Given the description of an element on the screen output the (x, y) to click on. 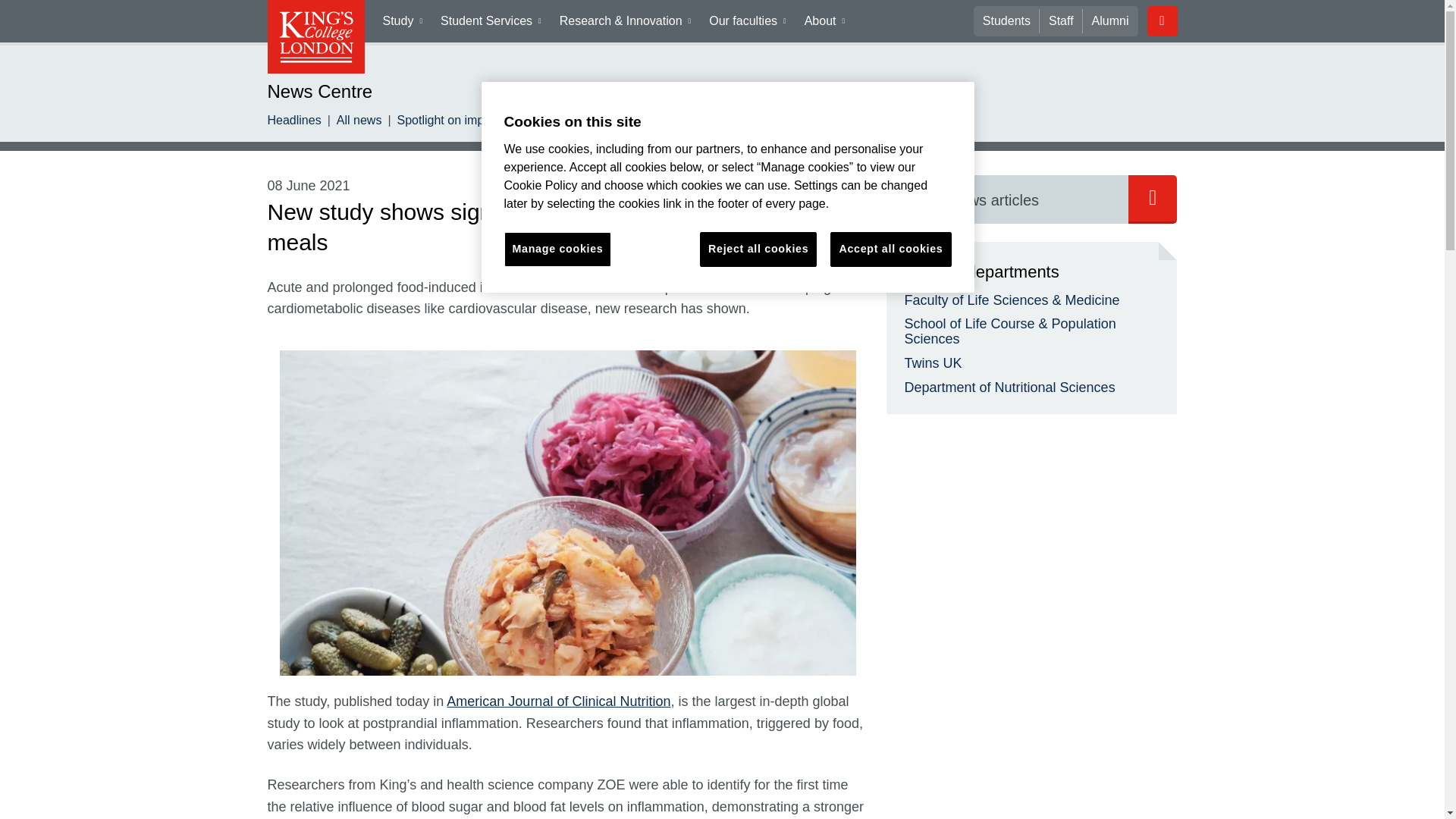
Search (1006, 199)
